Given the description of an element on the screen output the (x, y) to click on. 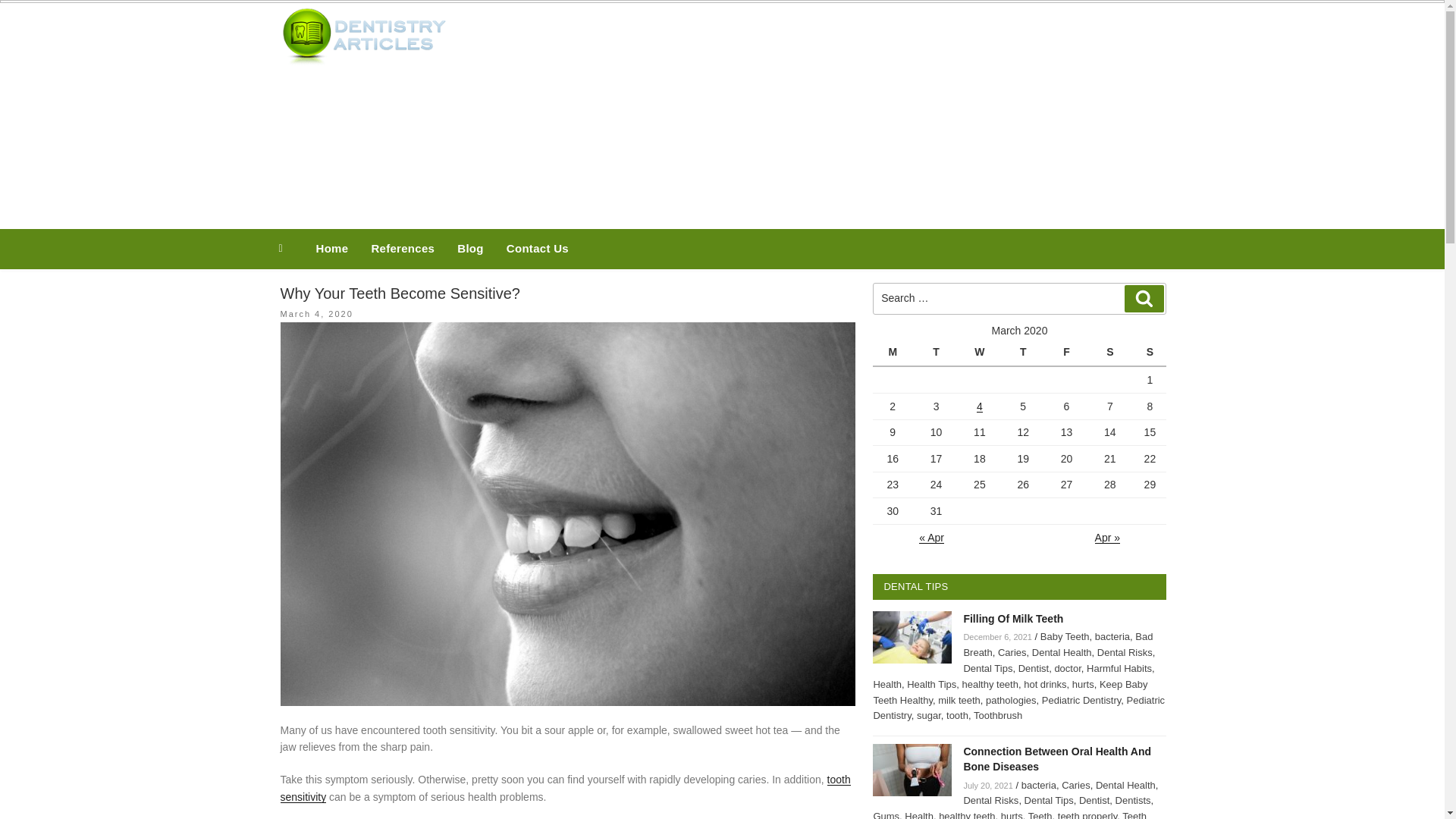
Thursday (1024, 352)
tooth sensitivity (565, 787)
Baby Teeth (1065, 636)
Saturday (1112, 352)
bacteria (1111, 636)
Tuesday (938, 352)
Bad Breath (1057, 644)
Blog (470, 249)
Dental Health (1062, 652)
Search (1143, 298)
Baby Teeth (1065, 636)
Filling Of Milk Teeth (1012, 618)
bacteria (1111, 636)
Advertisement (874, 111)
DENTISTRY ARTICLES (662, 49)
